Given the description of an element on the screen output the (x, y) to click on. 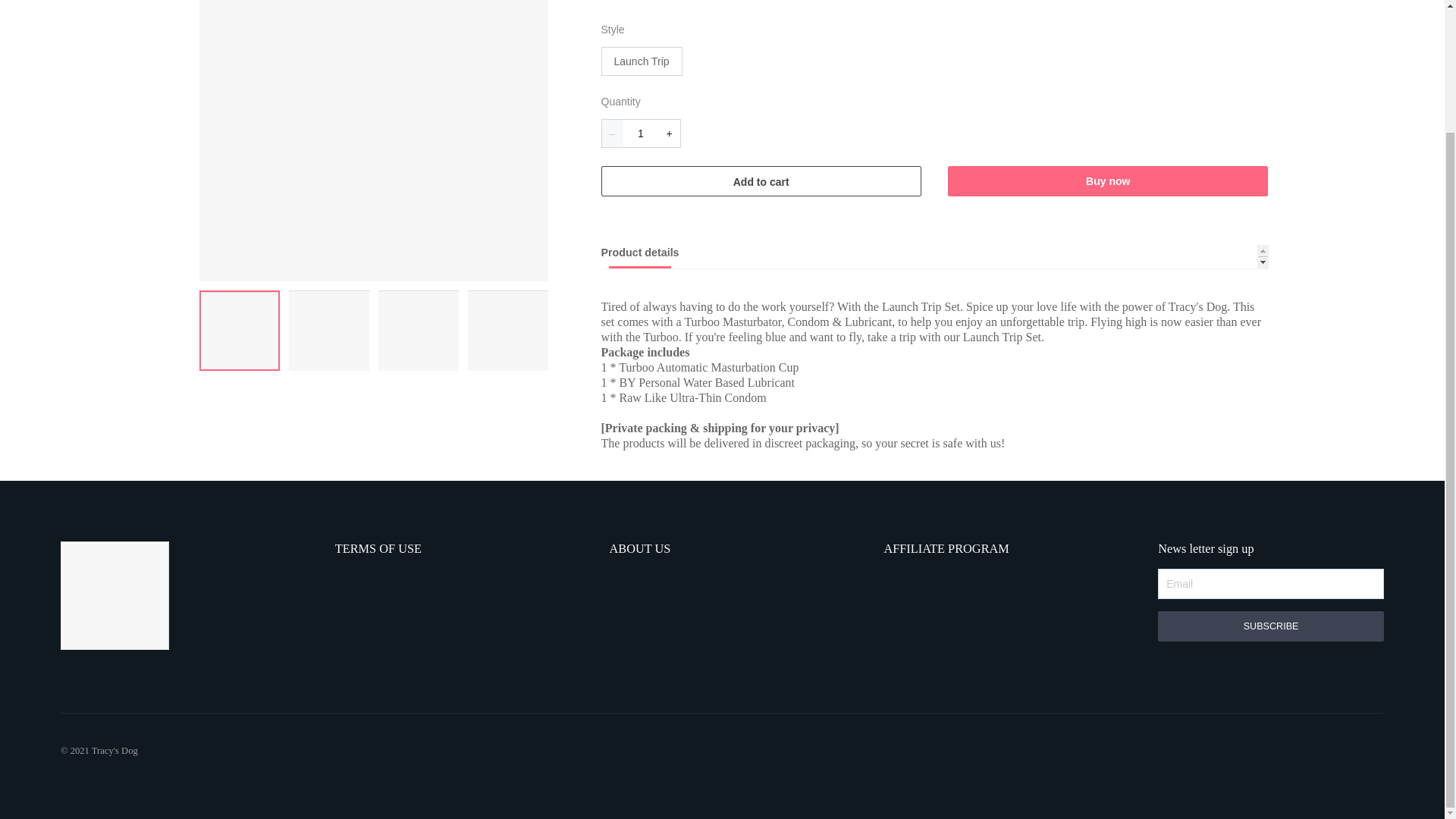
logo (114, 597)
Product details (933, 255)
1 (641, 133)
